Given the description of an element on the screen output the (x, y) to click on. 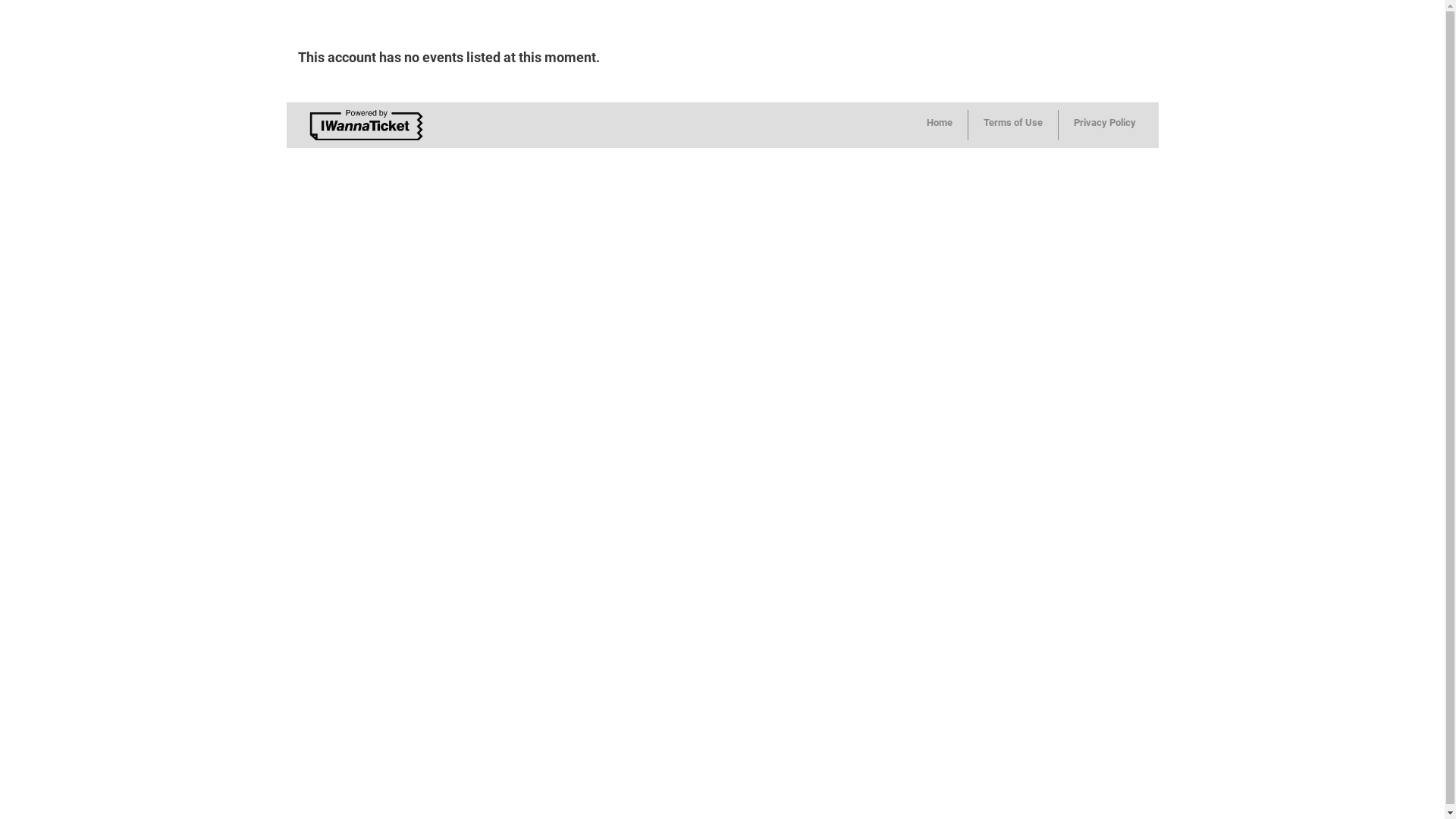
Home Element type: text (939, 124)
Terms of Use Element type: text (1012, 124)
Privacy Policy Element type: text (1104, 124)
